Given the description of an element on the screen output the (x, y) to click on. 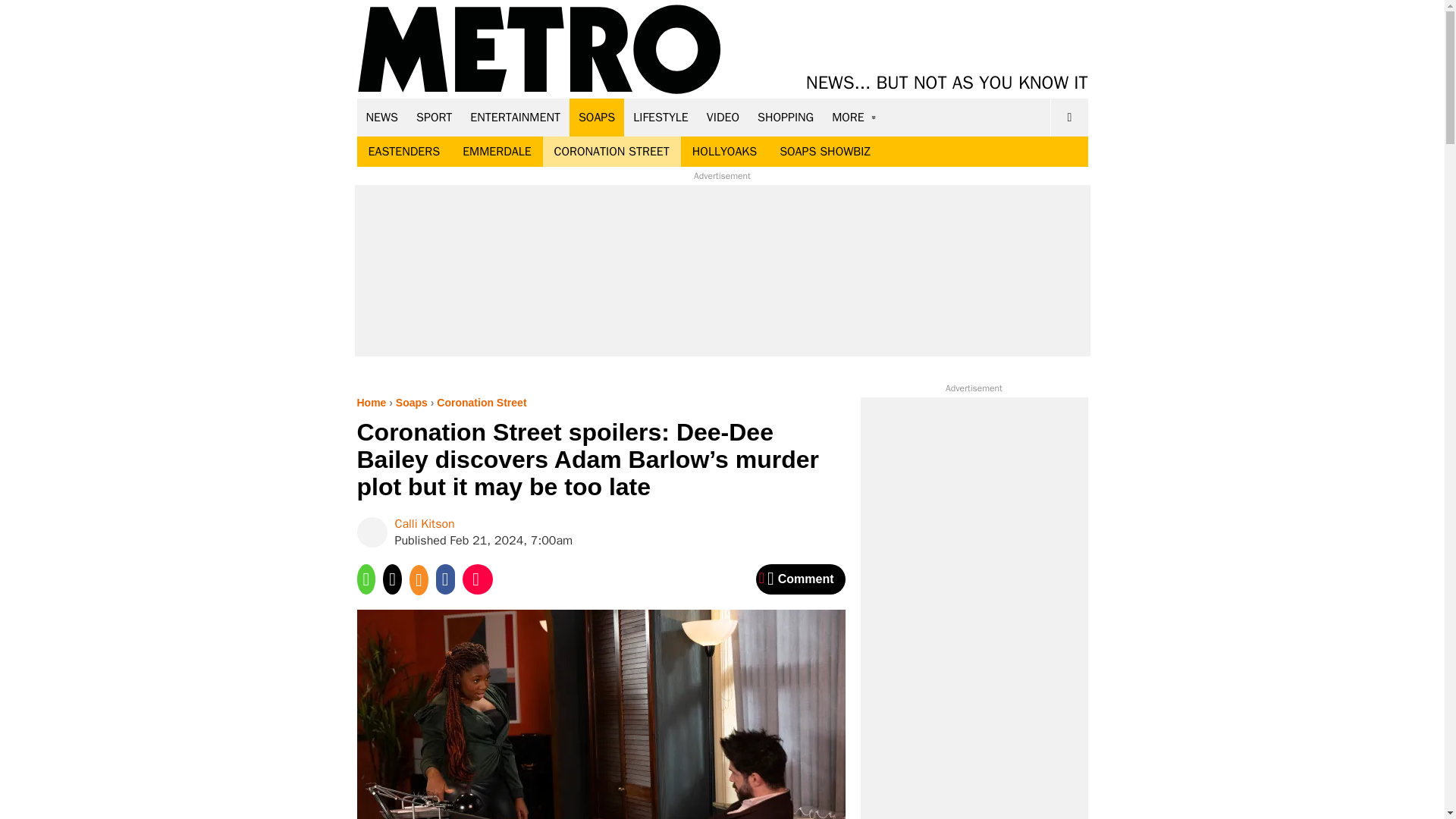
EMMERDALE (496, 151)
NEWS (381, 117)
SOAPS (596, 117)
ENTERTAINMENT (515, 117)
CORONATION STREET (612, 151)
SOAPS SHOWBIZ (825, 151)
SPORT (434, 117)
Metro (539, 50)
EASTENDERS (403, 151)
LIFESTYLE (660, 117)
